Given the description of an element on the screen output the (x, y) to click on. 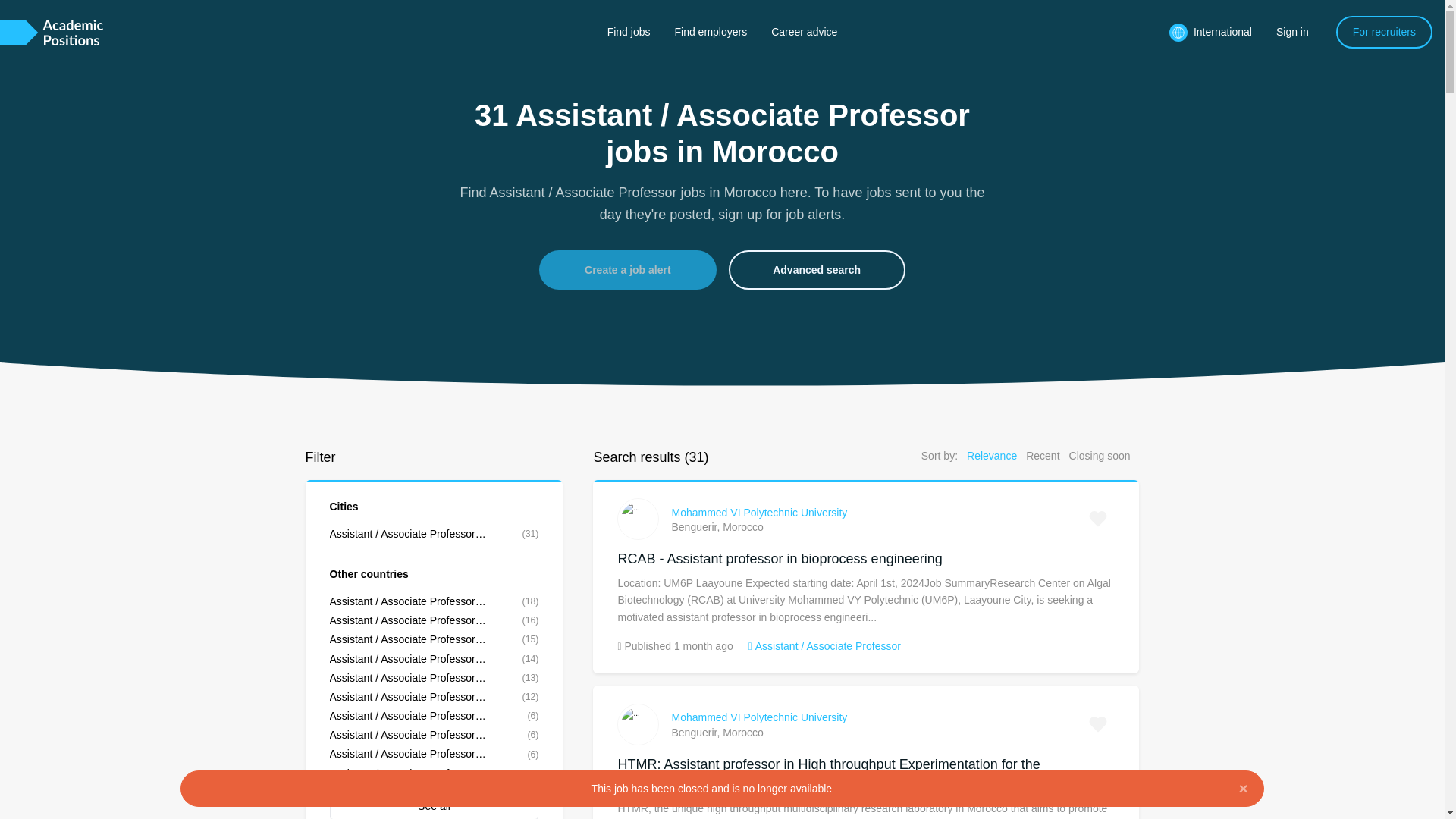
Career advice (803, 31)
Sign in (1291, 31)
Find employers (710, 31)
Please login to favorite the job. (1098, 518)
Please login to favorite the job. (1098, 724)
For recruiters (1384, 31)
Find jobs (628, 31)
